Given the description of an element on the screen output the (x, y) to click on. 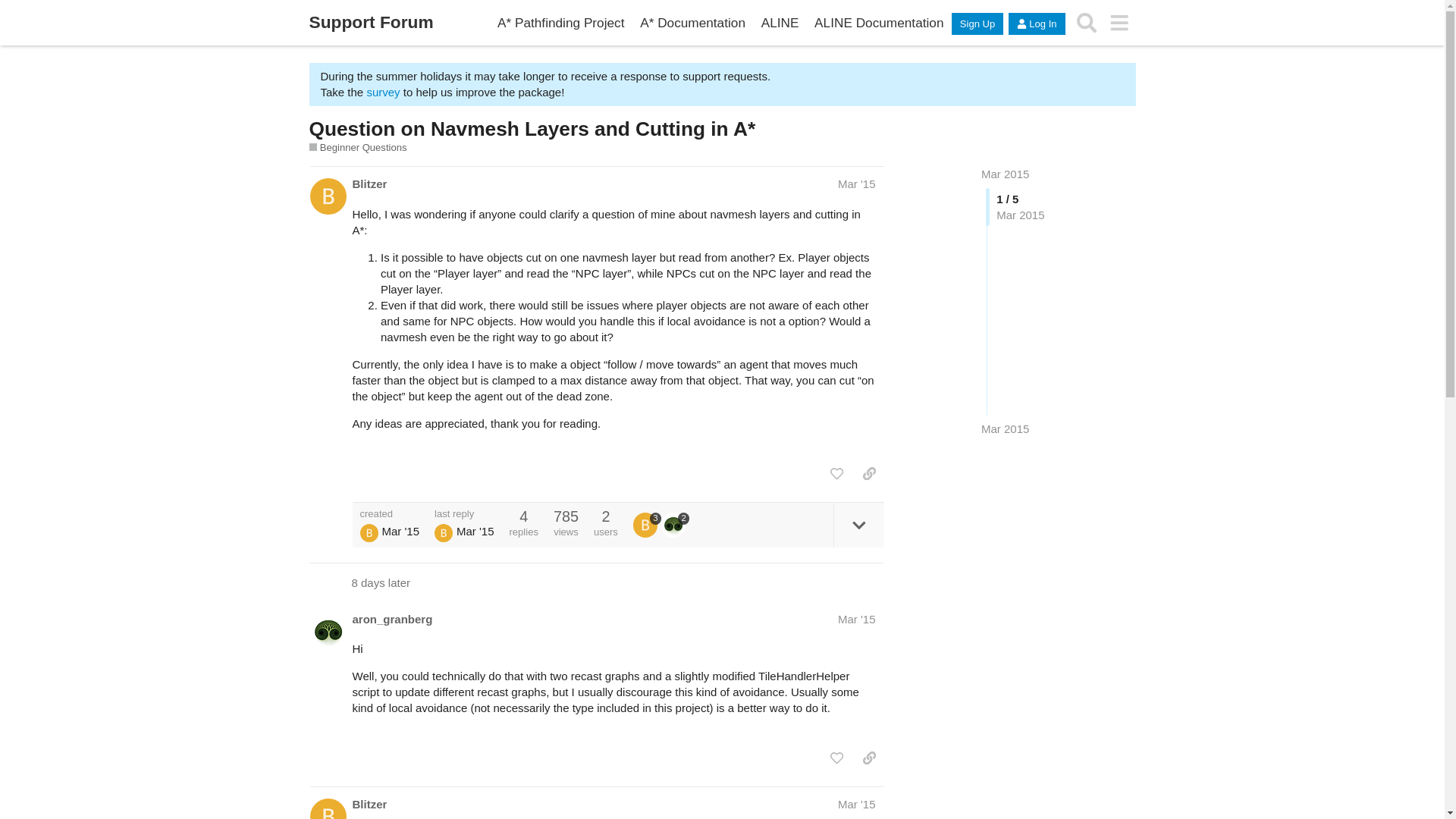
ALINE Documentation (879, 22)
Gpguyperson (368, 532)
Support Forum (370, 22)
Sign Up (977, 24)
survey (382, 91)
Blitzer (369, 804)
Mar '15 (857, 183)
Mar 2015 (1005, 173)
Mar 13, 2015 6:46 pm (1005, 428)
Mar 2015 (1005, 173)
